Given the description of an element on the screen output the (x, y) to click on. 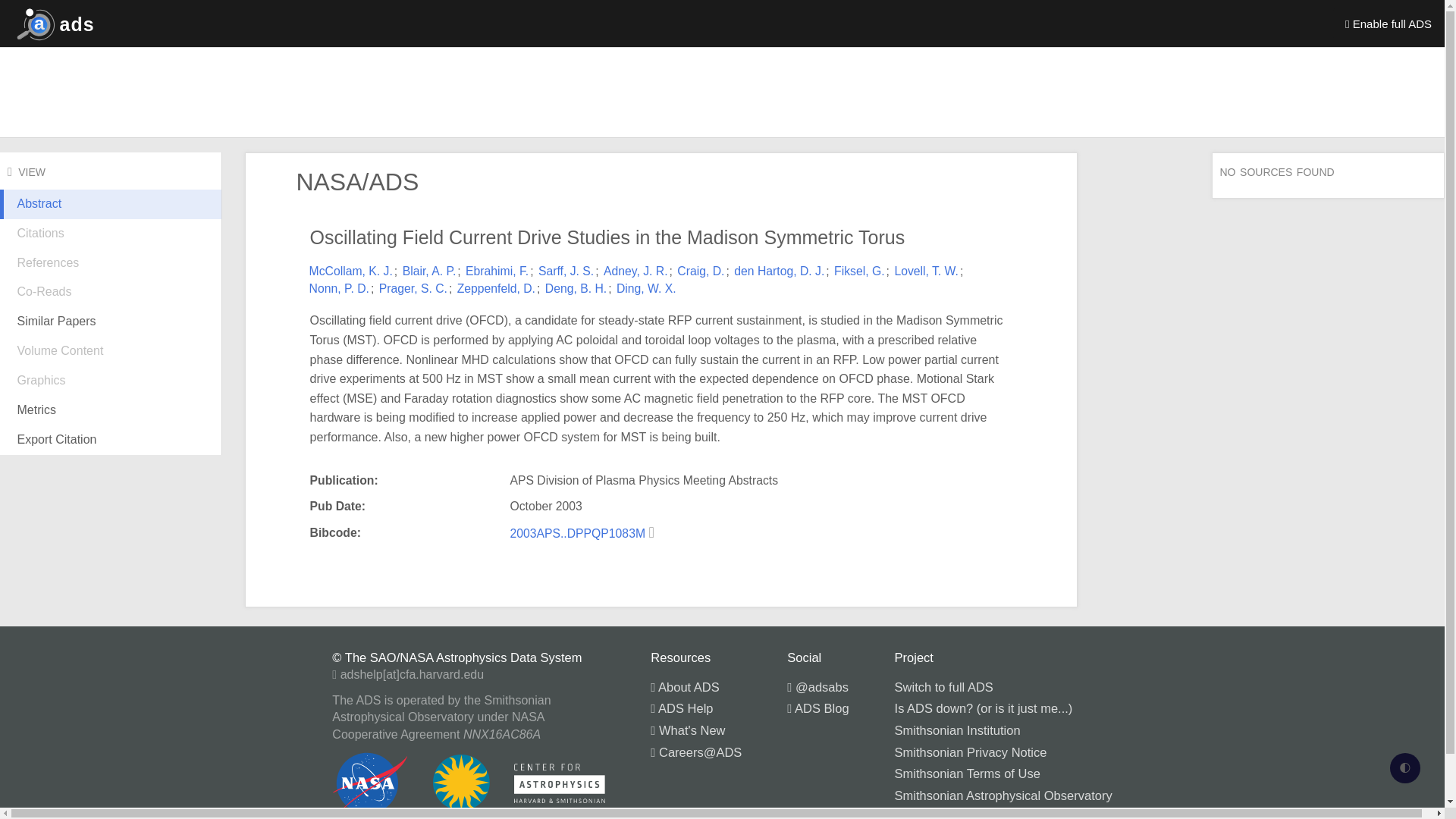
Fiksel, G. (859, 270)
Enable full ADS (1388, 23)
Blair, A. P. (430, 270)
Sarff, J. S. (566, 270)
den Hartog, D. J. (778, 270)
Zeppenfeld, D. (496, 287)
Harvard Center for Astrophysics logo (559, 782)
ads (51, 22)
Switch to full ADS (943, 686)
Smithsonian Terms of Use (968, 773)
Nonn, P. D. (338, 287)
Smithsonian Astrophysical Observatory (1003, 795)
ADS Blog (817, 707)
About ADS (684, 686)
Prager, S. C. (412, 287)
